Given the description of an element on the screen output the (x, y) to click on. 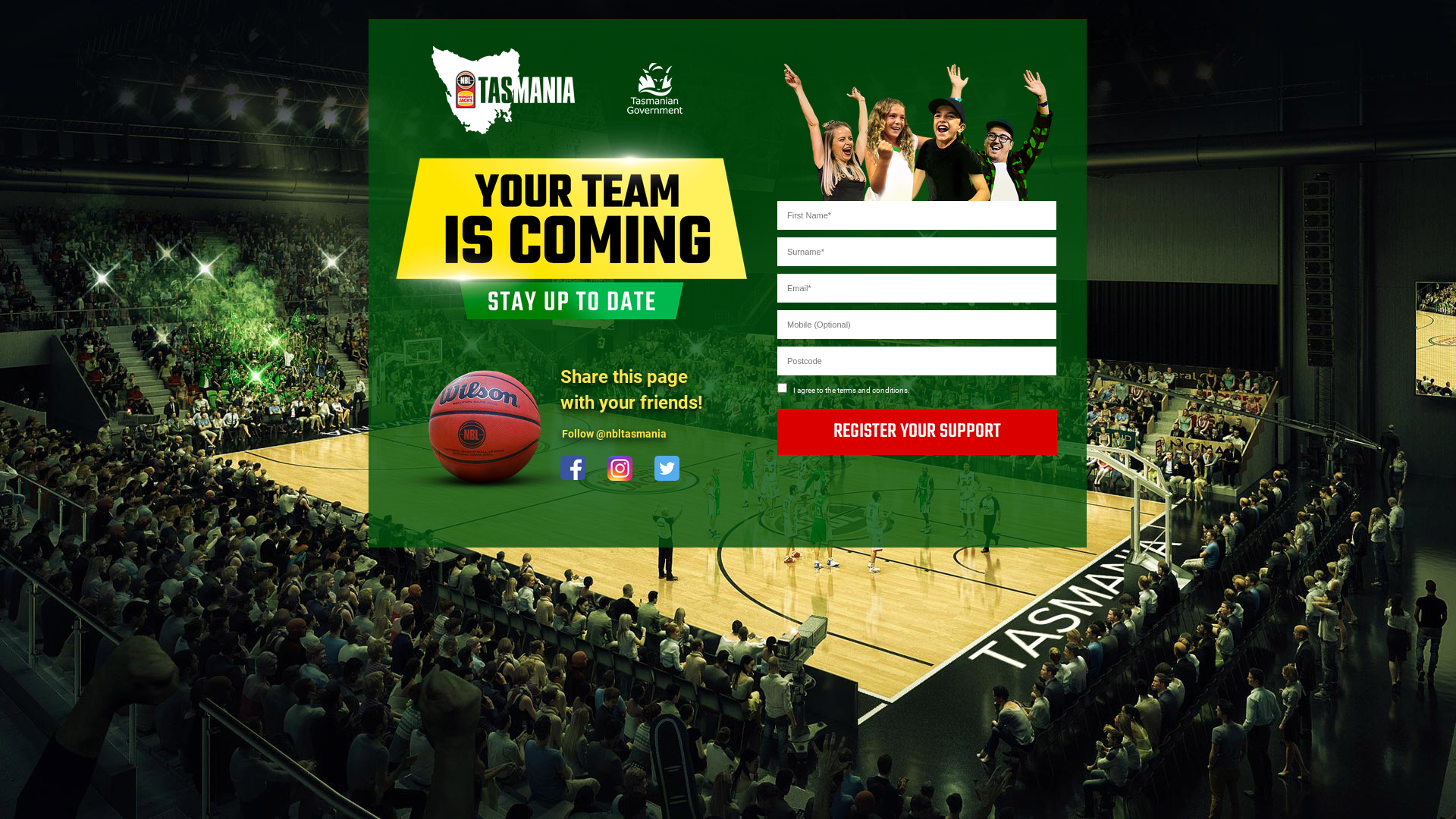
REGISTER YOUR SUPPORT Element type: text (917, 430)
terms and conditions. Element type: text (873, 389)
